Given the description of an element on the screen output the (x, y) to click on. 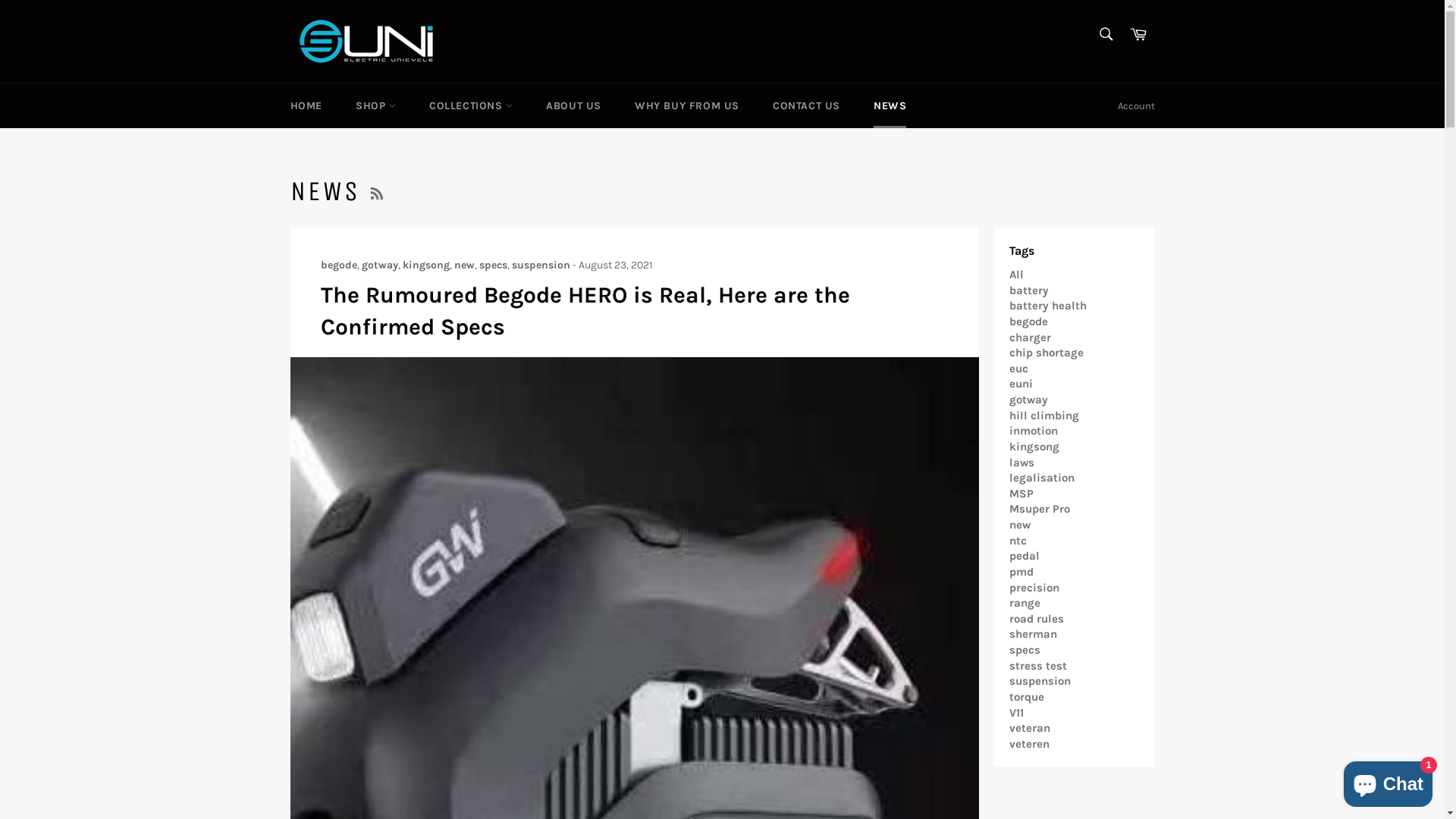
legalisation Element type: text (1040, 477)
suspension Element type: text (540, 264)
battery Element type: text (1028, 290)
gotway Element type: text (378, 264)
All Element type: text (1015, 274)
ABOUT US Element type: text (573, 105)
gotway Element type: text (1027, 399)
WHY BUY FROM US Element type: text (686, 105)
euc Element type: text (1017, 368)
MSP Element type: text (1020, 493)
precision Element type: text (1033, 587)
torque Element type: text (1025, 696)
V11 Element type: text (1015, 711)
range Element type: text (1023, 602)
euni Element type: text (1020, 383)
charger Element type: text (1029, 337)
veteren Element type: text (1028, 743)
kingsong Element type: text (1033, 446)
Msuper Pro Element type: text (1038, 508)
Cart Element type: text (1138, 41)
begode Element type: text (1027, 321)
COLLECTIONS Element type: text (470, 105)
battery health Element type: text (1046, 305)
RSS Element type: text (376, 191)
NEWS Element type: text (889, 105)
hill climbing Element type: text (1043, 415)
Search Element type: text (1105, 34)
new Element type: text (463, 264)
Shopify online store chat Element type: hover (1388, 780)
veteran Element type: text (1028, 727)
specs Element type: text (493, 264)
CONTACT US Element type: text (806, 105)
Account Element type: text (1136, 106)
inmotion Element type: text (1032, 430)
begode Element type: text (338, 264)
pedal Element type: text (1023, 555)
new Element type: text (1018, 524)
SHOP Element type: text (375, 105)
stress test Element type: text (1037, 665)
ntc Element type: text (1017, 540)
specs Element type: text (1023, 649)
road rules Element type: text (1035, 618)
pmd Element type: text (1020, 571)
HOME Element type: text (305, 105)
chip shortage Element type: text (1045, 352)
suspension Element type: text (1039, 680)
laws Element type: text (1020, 461)
sherman Element type: text (1032, 633)
kingsong Element type: text (424, 264)
